Given the description of an element on the screen output the (x, y) to click on. 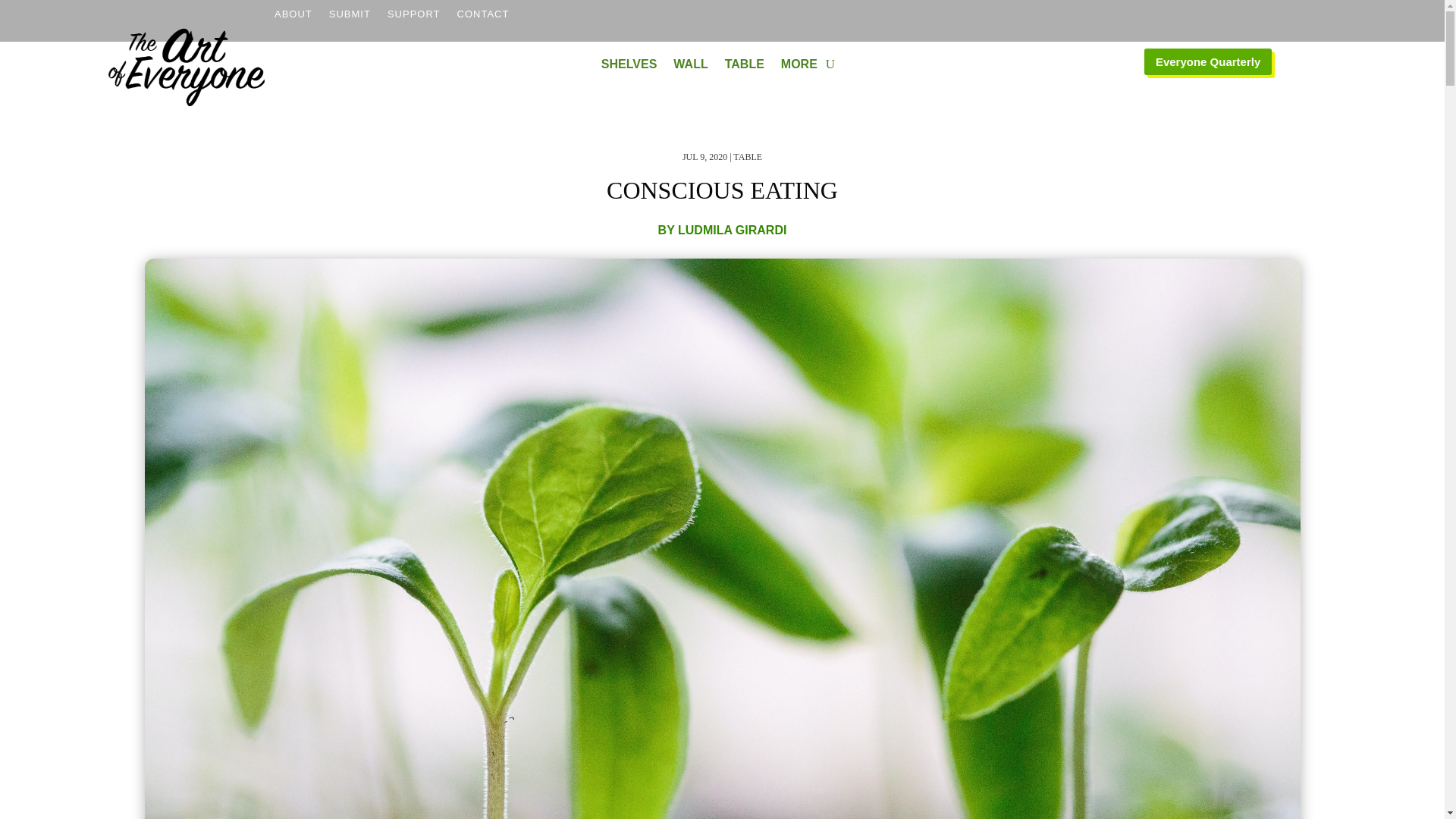
ABOUT (294, 25)
LUDMILA GIRARDI (732, 229)
TABLE (744, 67)
SUBMIT (350, 25)
TABLE (747, 156)
MORE (798, 67)
Posts by Ludmila Girardi (732, 229)
WALL (689, 67)
CONTACT (483, 25)
SUPPORT (414, 25)
SHELVES (629, 67)
Everyone Quarterly (1207, 61)
